Given the description of an element on the screen output the (x, y) to click on. 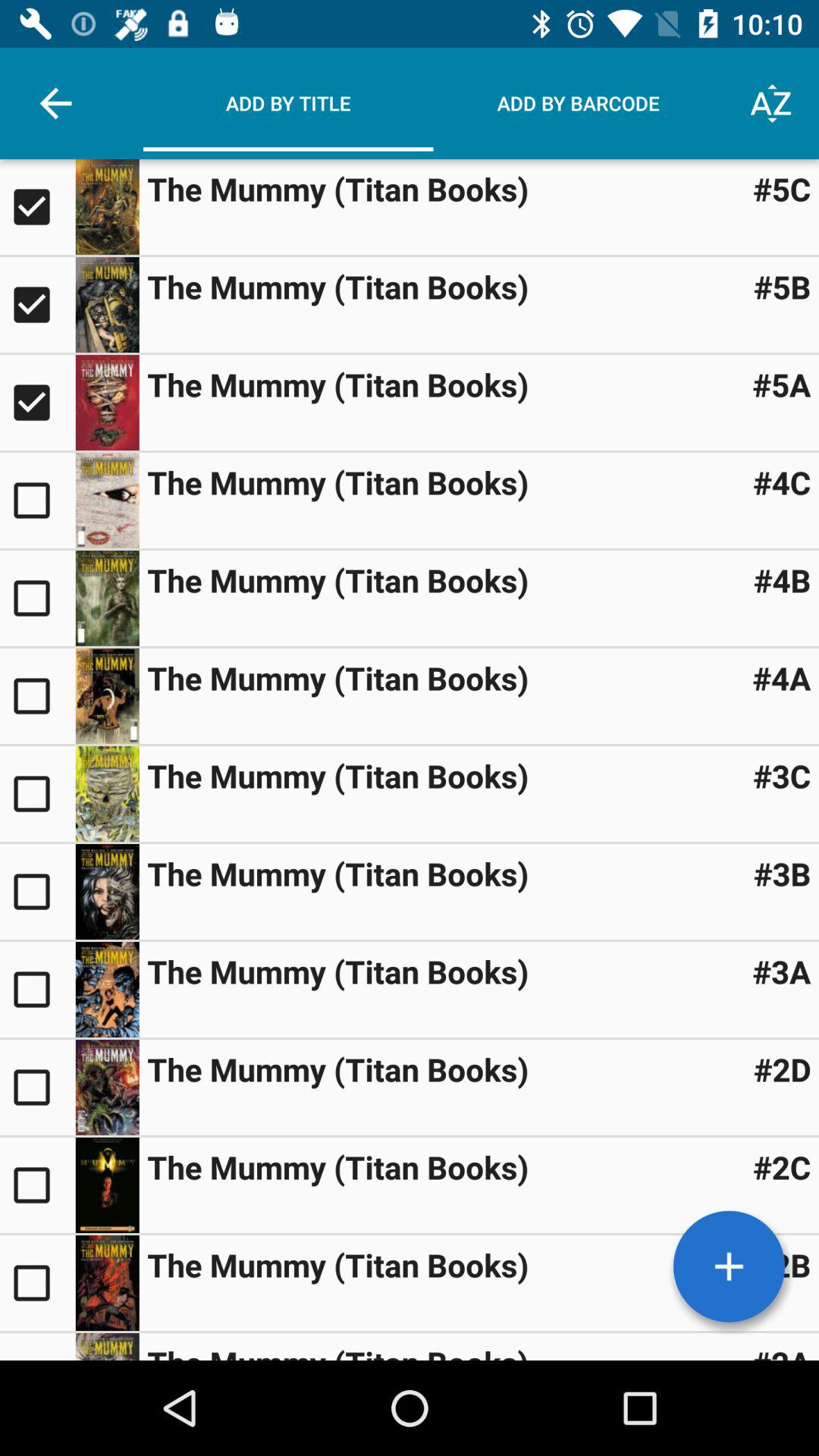
check box for book selection (37, 402)
